Given the description of an element on the screen output the (x, y) to click on. 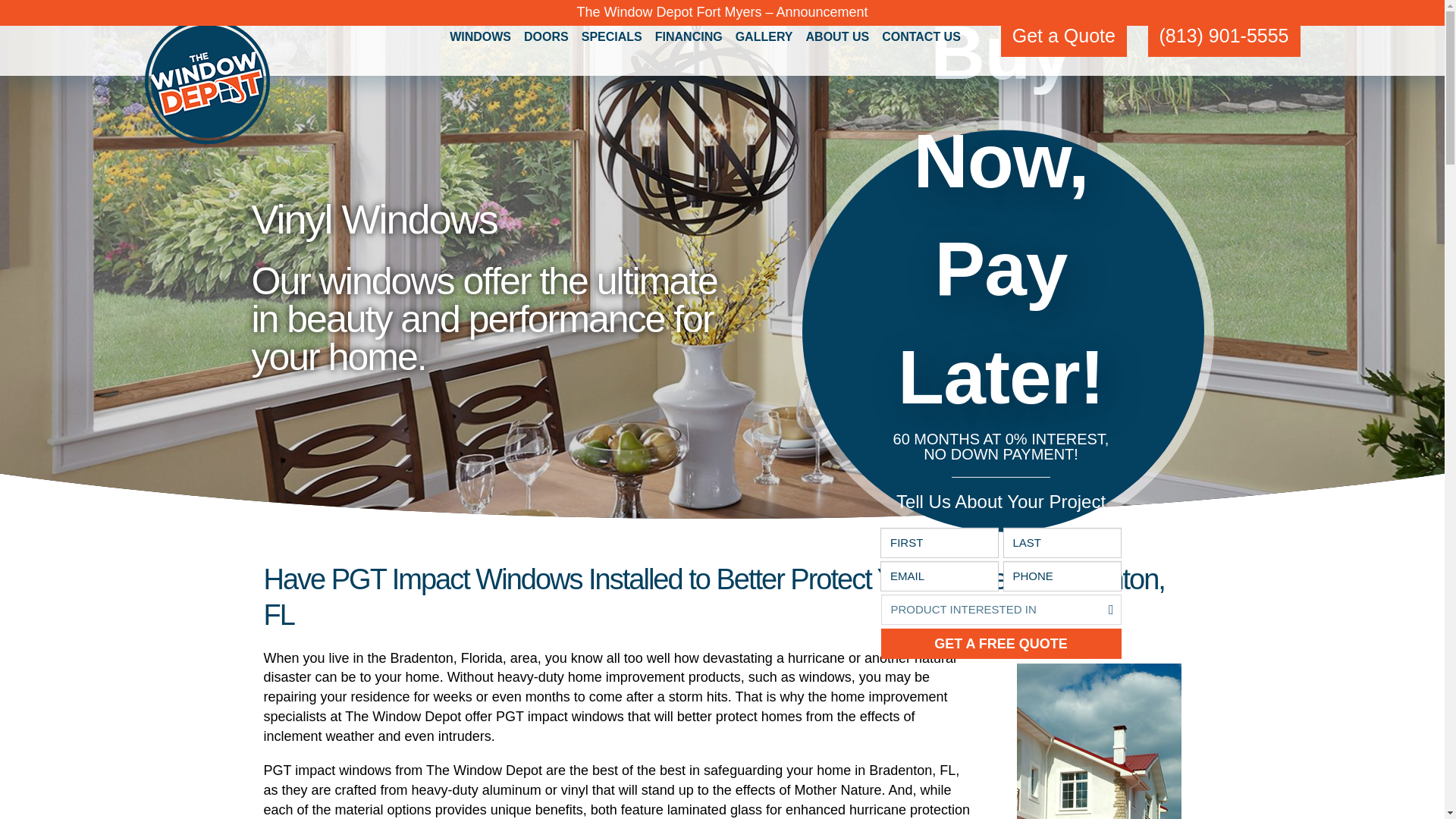
GALLERY (763, 38)
Get a Quote (1063, 35)
DOORS (546, 38)
PGT Impact Windows Bradenton FL (1098, 741)
FINANCING (688, 38)
CONTACT US (921, 38)
GET A FREE QUOTE (1000, 643)
WINDOWS (480, 38)
The Window Depot (206, 81)
ABOUT US (838, 38)
SPECIALS (611, 38)
